Given the description of an element on the screen output the (x, y) to click on. 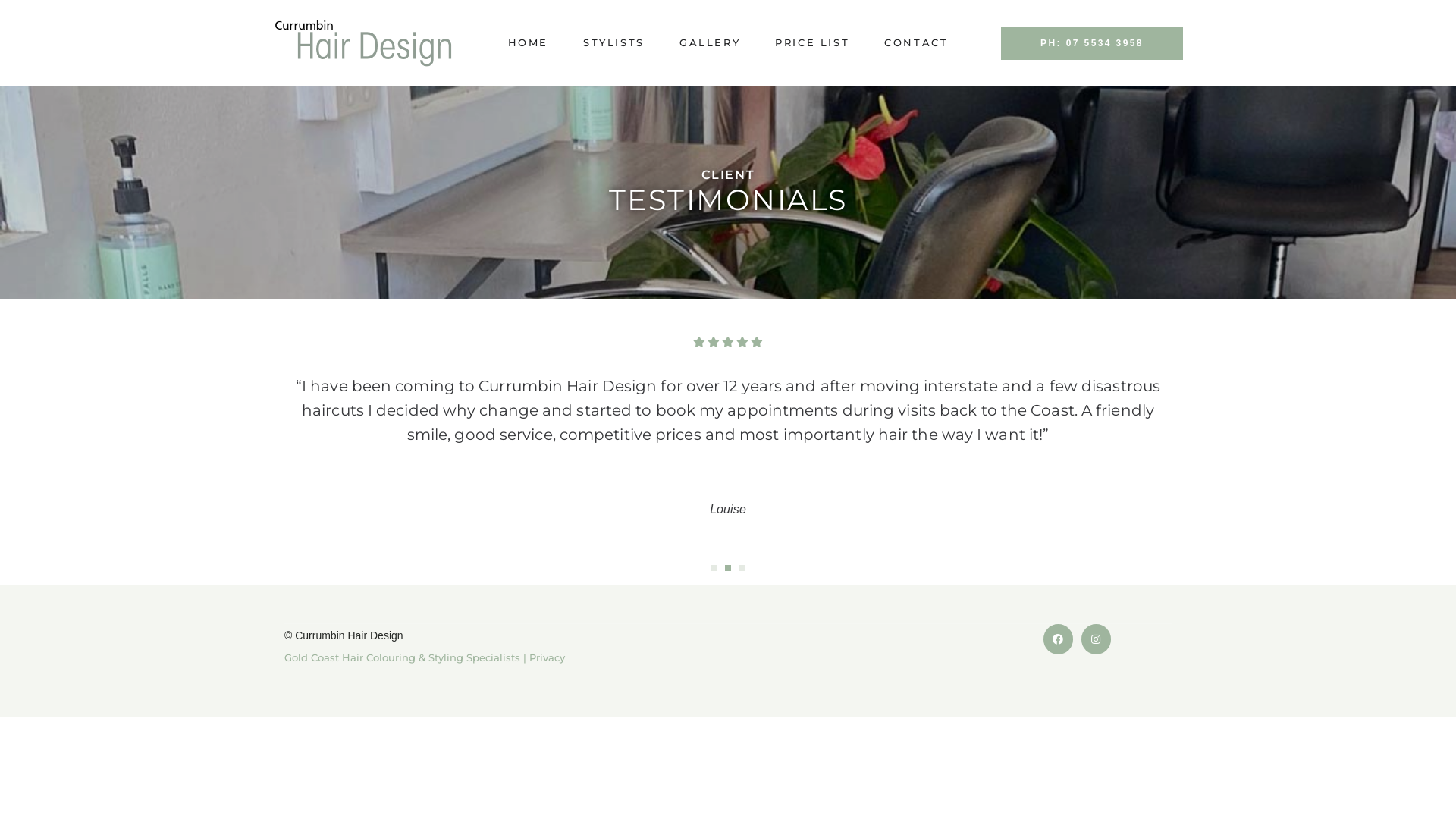
PH: 07 5534 3958 Element type: text (1092, 42)
STYLISTS Element type: text (613, 42)
PRICE LIST Element type: text (811, 42)
GALLERY Element type: text (709, 42)
HOME Element type: text (533, 42)
Privacy Element type: text (546, 657)
CONTACT Element type: text (909, 42)
